Given the description of an element on the screen output the (x, y) to click on. 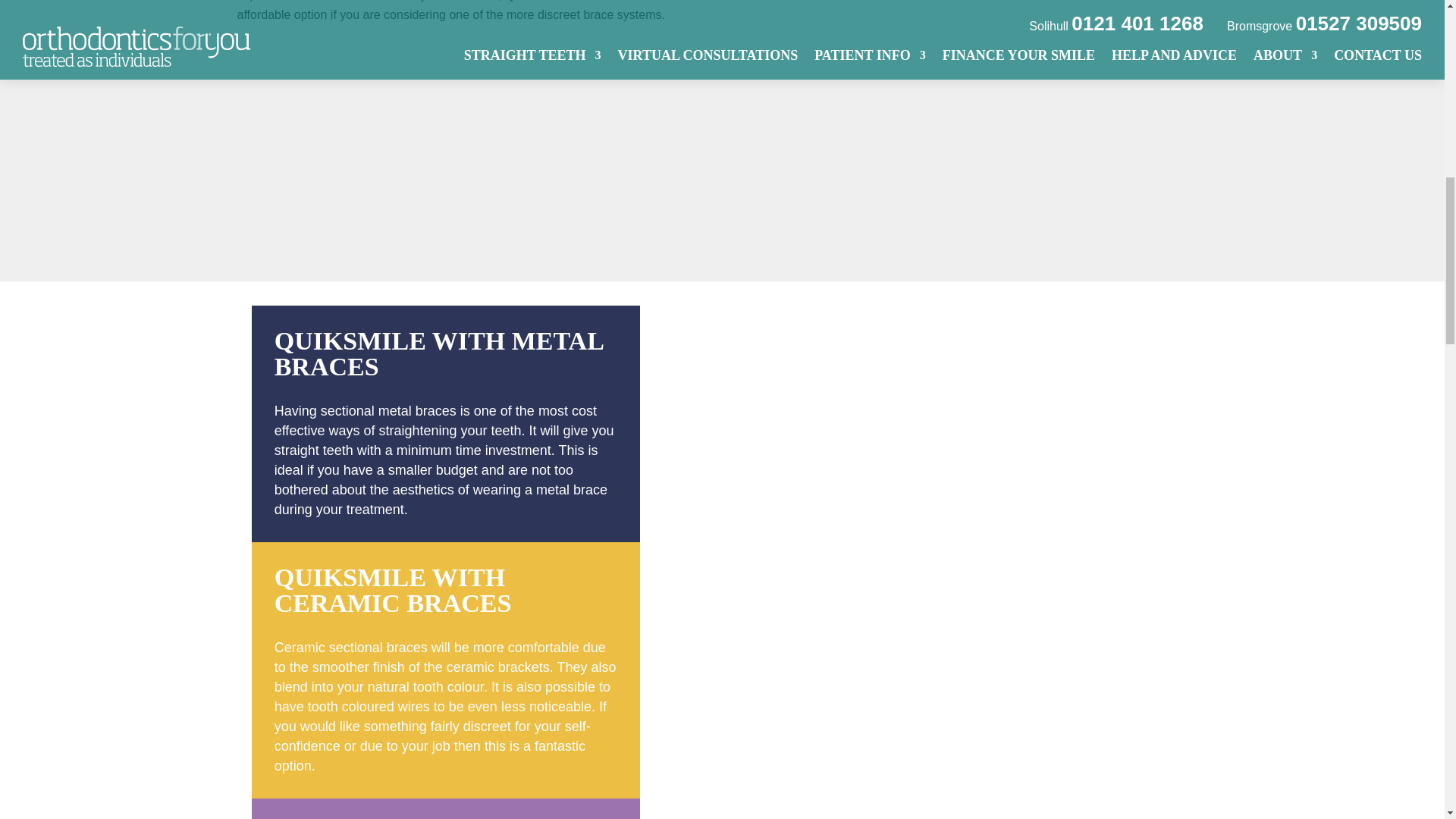
Sophie's Testimonial HD (972, 128)
